Given the description of an element on the screen output the (x, y) to click on. 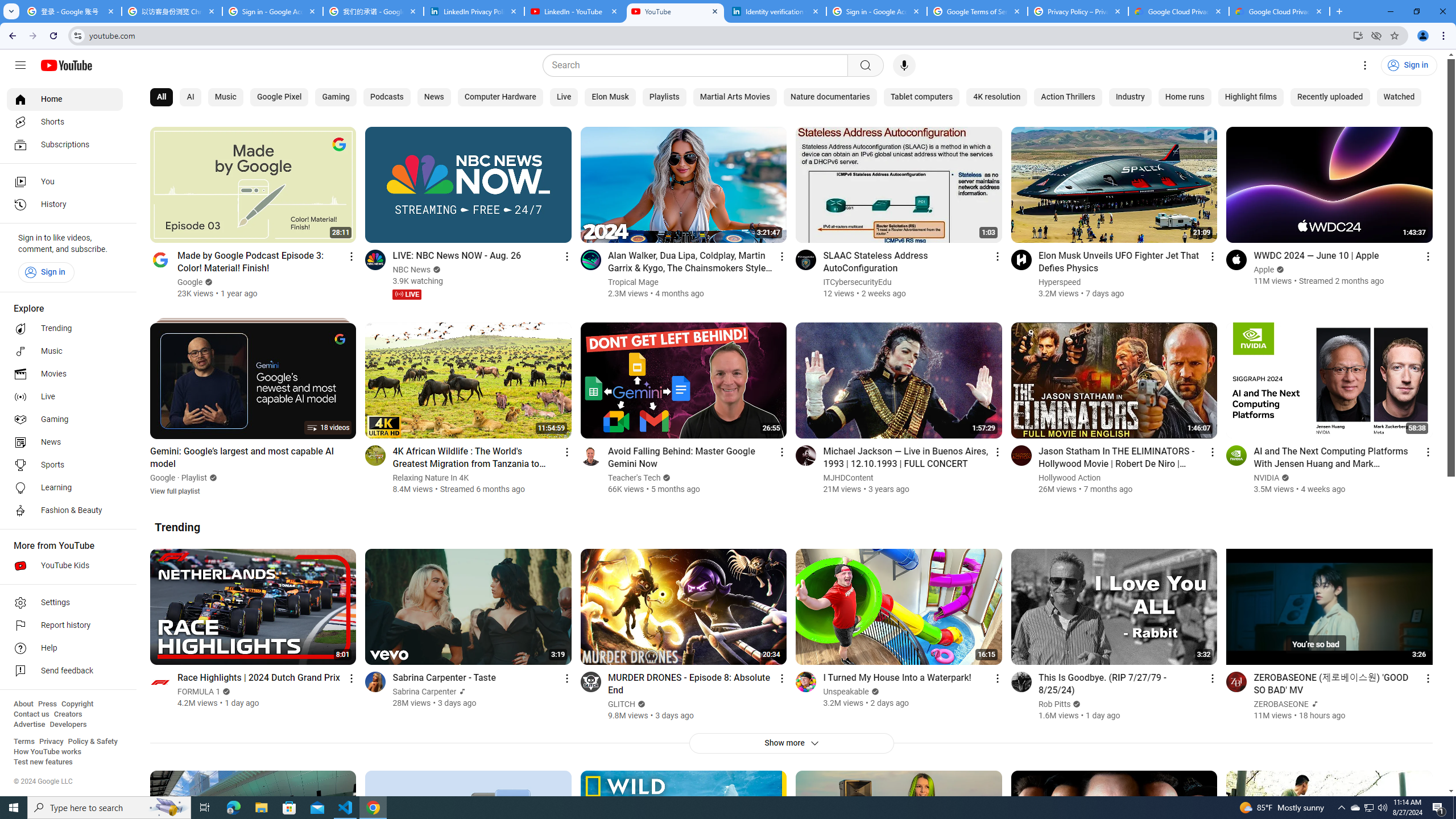
LIVE (406, 294)
ITCybersecurityEdu (857, 282)
Sports (64, 464)
ZEROBASEONE (1281, 704)
Fashion & Beauty (64, 510)
Playlist (194, 477)
4K resolution (996, 97)
Official Artist Channel (1313, 704)
Music (64, 350)
Computer Hardware (500, 97)
